Given the description of an element on the screen output the (x, y) to click on. 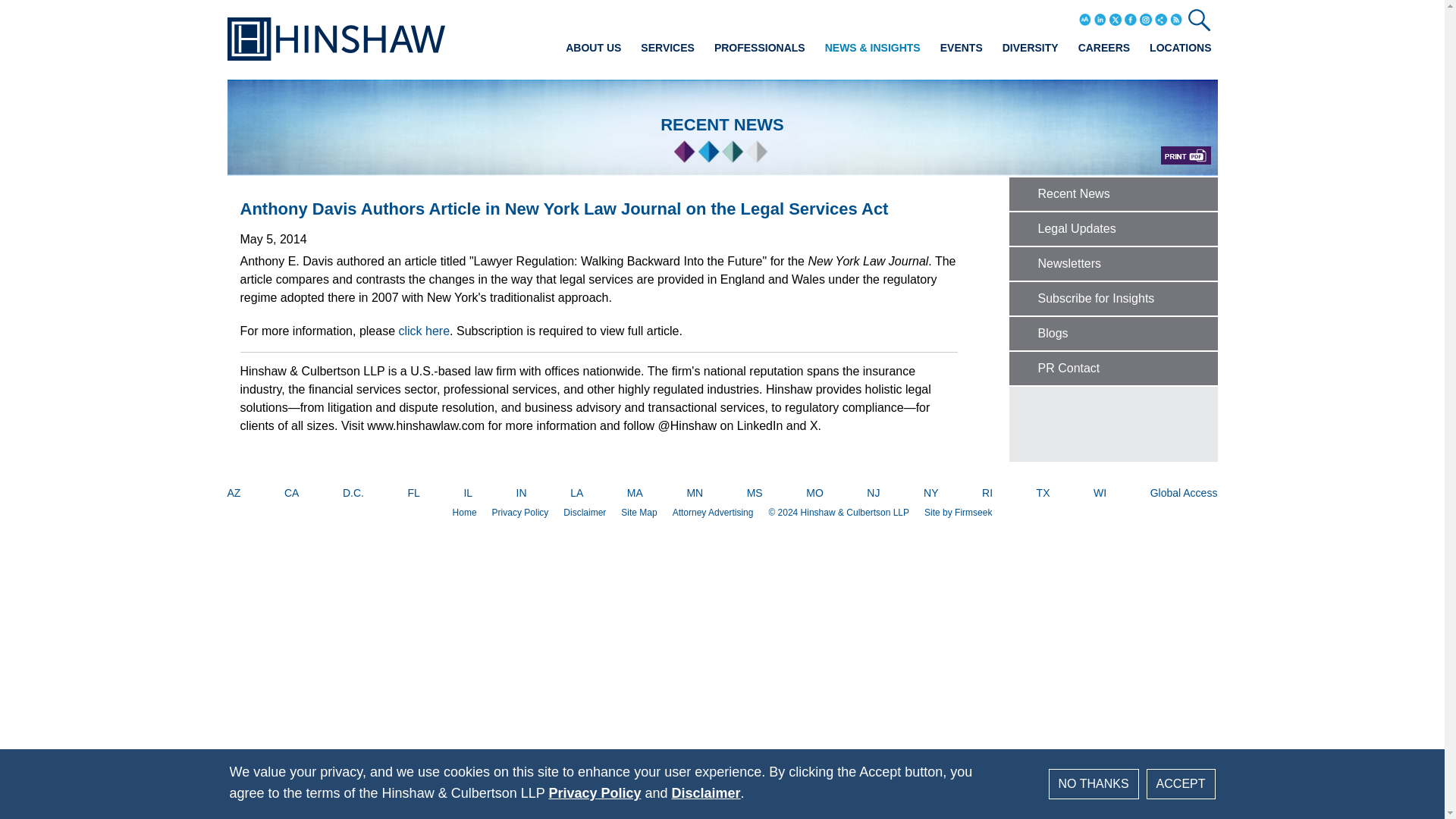
SERVICES (667, 47)
Main Menu (680, 16)
PROFESSIONALS (759, 47)
Main Content (674, 16)
ABOUT US (593, 47)
Menu (680, 16)
